Given the description of an element on the screen output the (x, y) to click on. 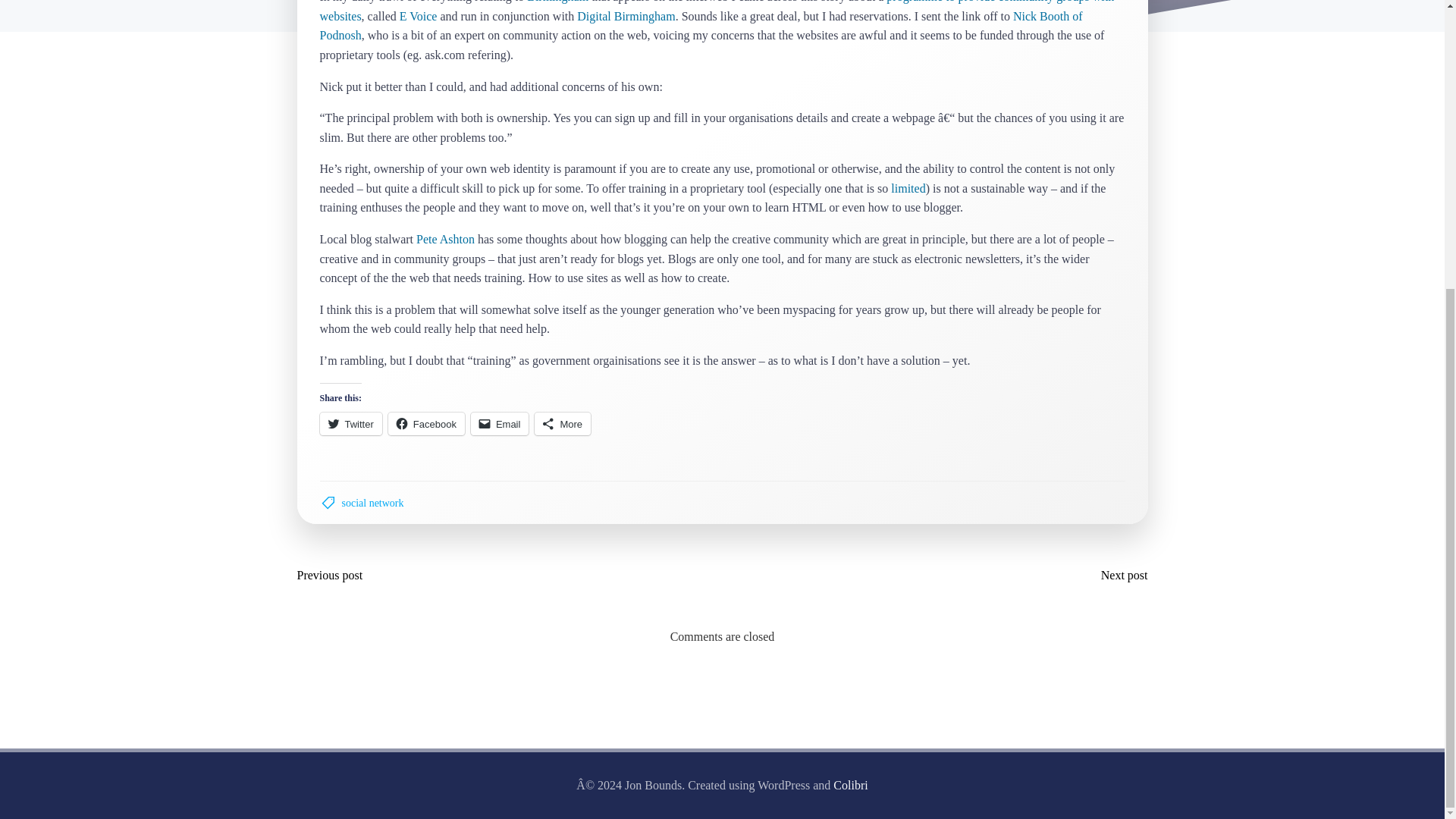
Pete Ashton (445, 238)
social network (371, 503)
Birmingham (557, 1)
Click to share on Twitter (350, 423)
limited (907, 187)
social network Tag (371, 503)
Email (499, 423)
Twitter (350, 423)
E Voice (418, 15)
Colibri (849, 784)
More (562, 423)
Next post (1120, 575)
Nick Booth of Podnosh (701, 25)
Click to email a link to a friend (499, 423)
Digital Birmingham (625, 15)
